Given the description of an element on the screen output the (x, y) to click on. 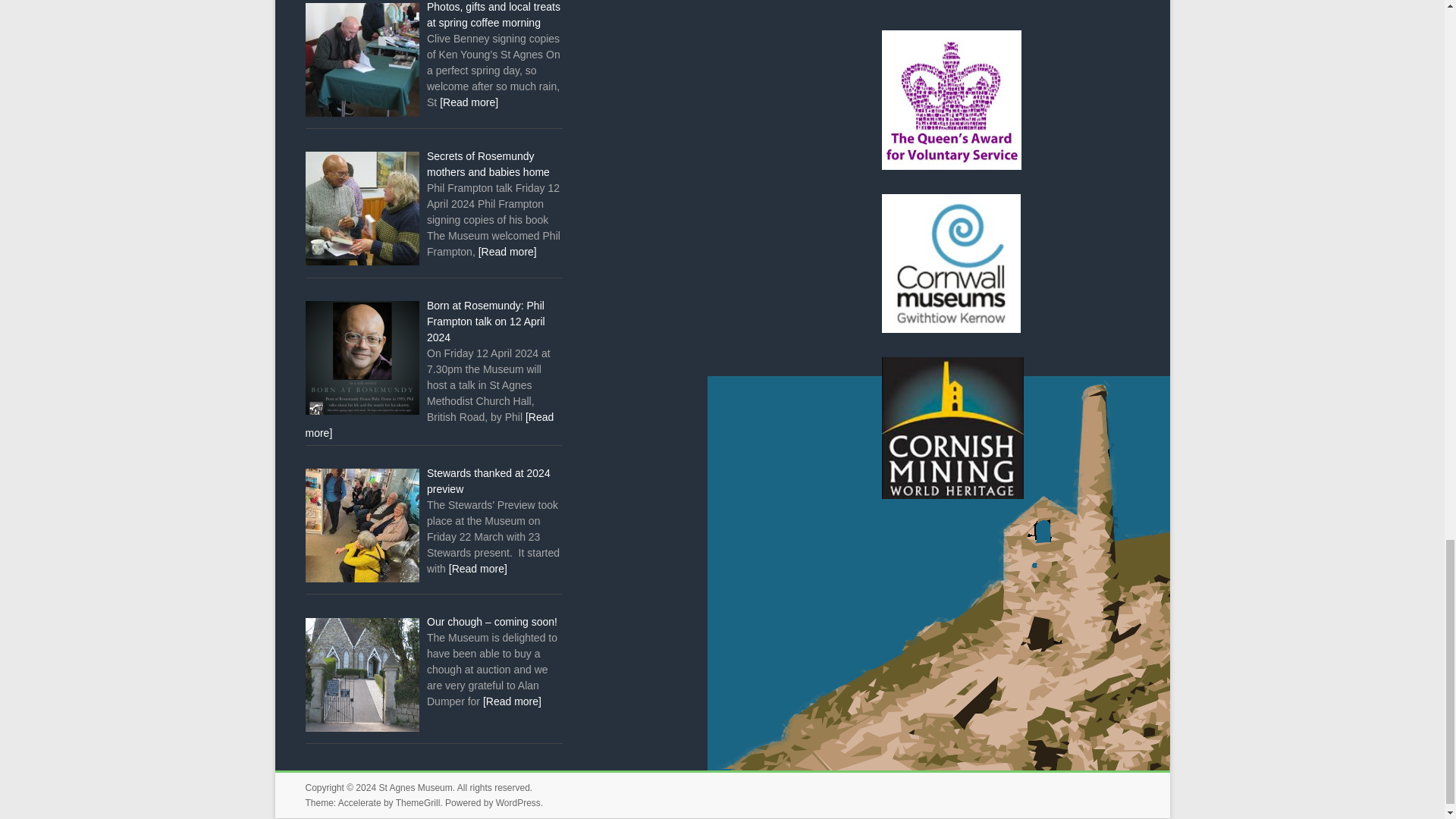
Stewards thanked at 2024 preview (488, 480)
Secrets of Rosemundy mothers and babies home (488, 163)
Accelerate (359, 802)
St Agnes Museum (414, 787)
WordPress (518, 802)
Photos, gifts and local treats at spring coffee morning (493, 14)
St Agnes Museum (414, 787)
Born at Rosemundy: Phil Frampton talk on 12 April 2024 (485, 321)
Accelerate (359, 802)
